Given the description of an element on the screen output the (x, y) to click on. 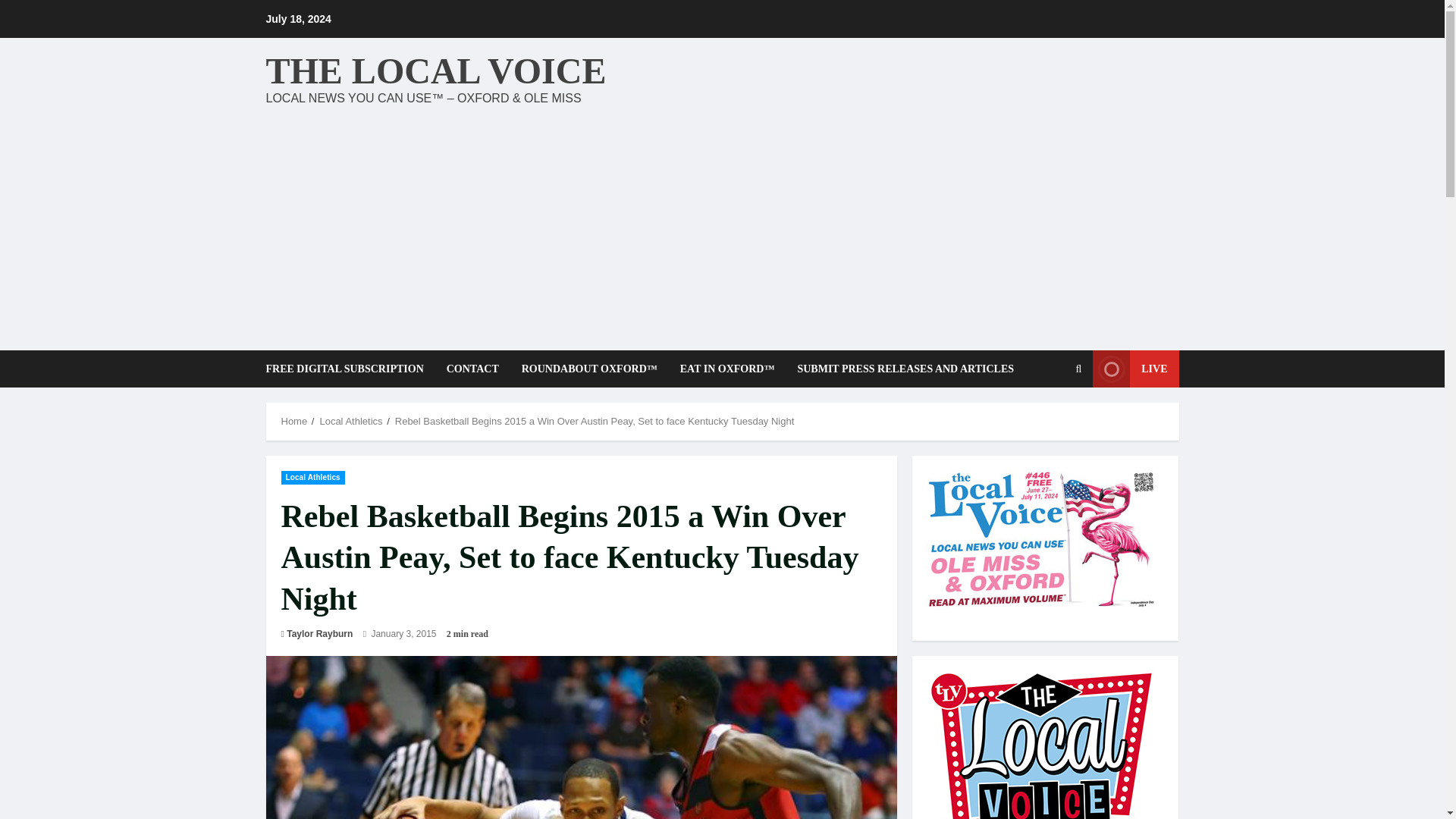
Local Athletics (312, 477)
FREE DIGITAL SUBSCRIPTION (348, 368)
LIVE (1135, 368)
CONTACT (473, 368)
THE LOCAL VOICE (434, 70)
Home (294, 420)
Local Athletics (349, 420)
Search (1042, 420)
Taylor Rayburn (319, 633)
SUBMIT PRESS RELEASES AND ARTICLES (899, 368)
